Given the description of an element on the screen output the (x, y) to click on. 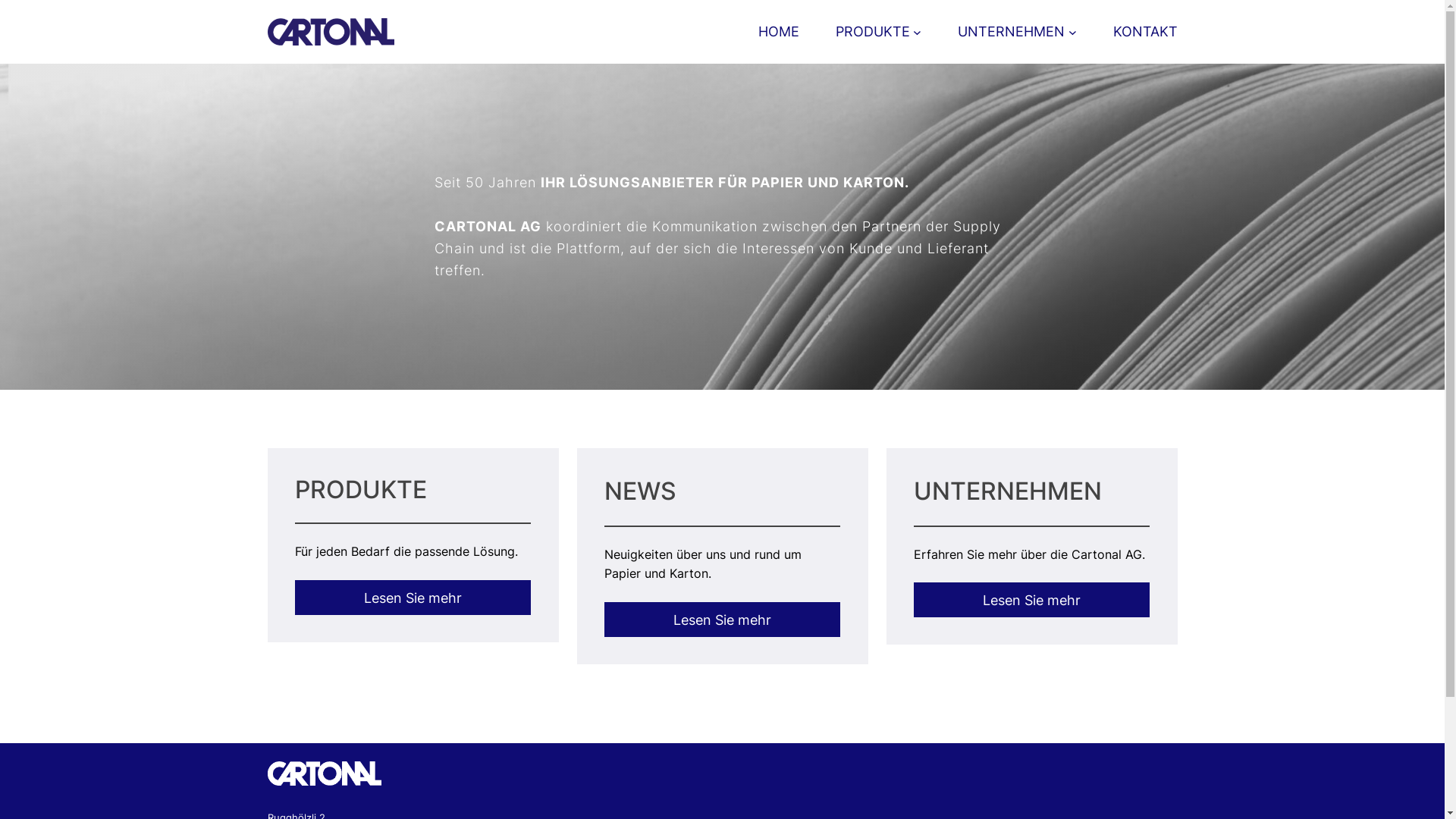
Lesen Sie mehr Element type: text (722, 619)
UNTERNEHMEN Element type: text (1010, 31)
KONTAKT Element type: text (1145, 31)
HOME Element type: text (778, 31)
Lesen Sie mehr Element type: text (412, 597)
Lesen Sie mehr Element type: text (1031, 599)
PRODUKTE Element type: text (872, 31)
